Given the description of an element on the screen output the (x, y) to click on. 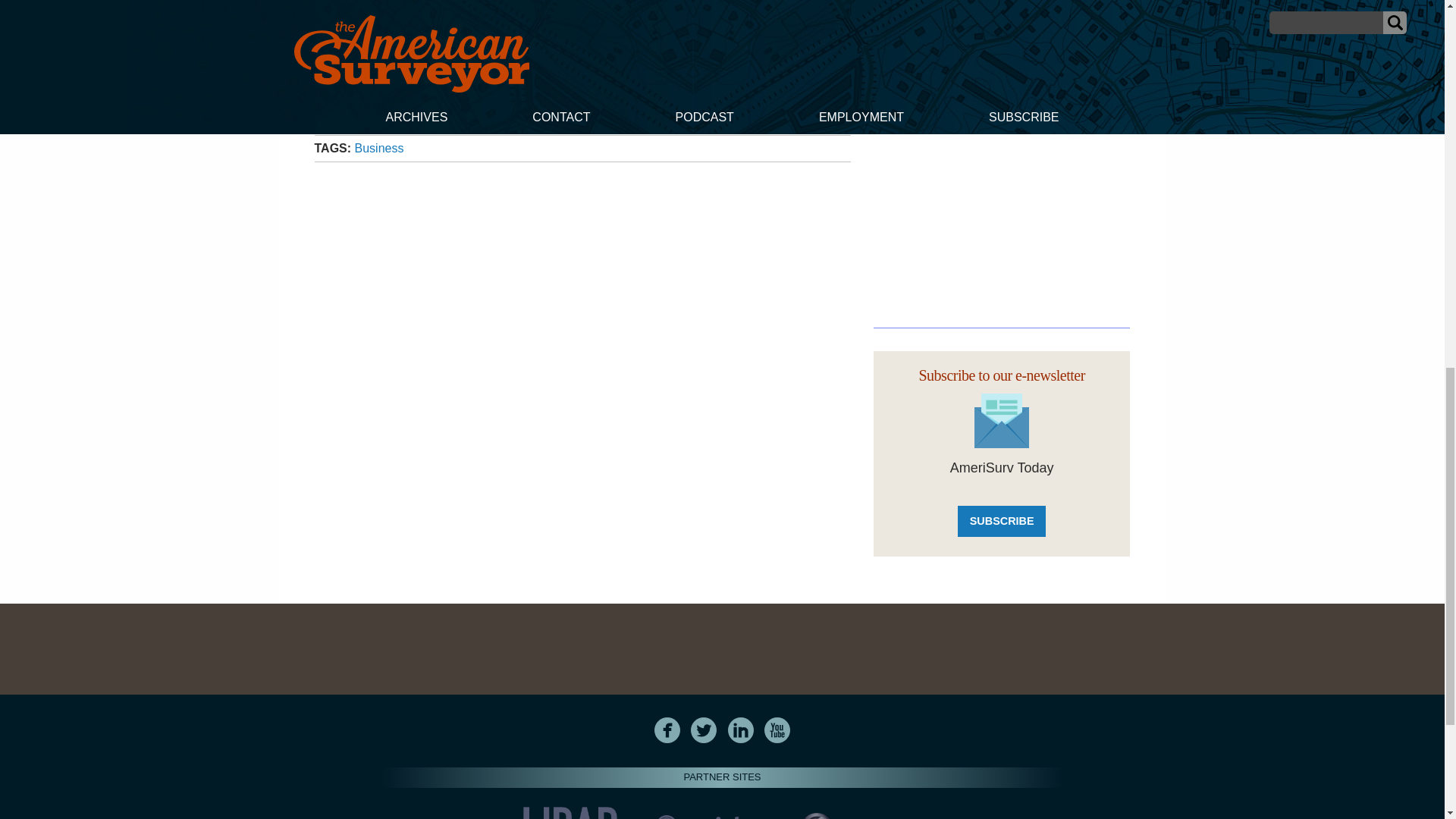
icon-sm-youtube (777, 729)
icon-sm-linkedin (740, 729)
icon-sm-linkedin (741, 729)
icon-sm-fb (666, 729)
icon-sm-fb (667, 729)
SUBSCRIBE (1001, 521)
Business (379, 147)
icon-sm-twitter (703, 729)
icon-sm-twitter (703, 729)
icon-sm-youtube (776, 729)
